Given the description of an element on the screen output the (x, y) to click on. 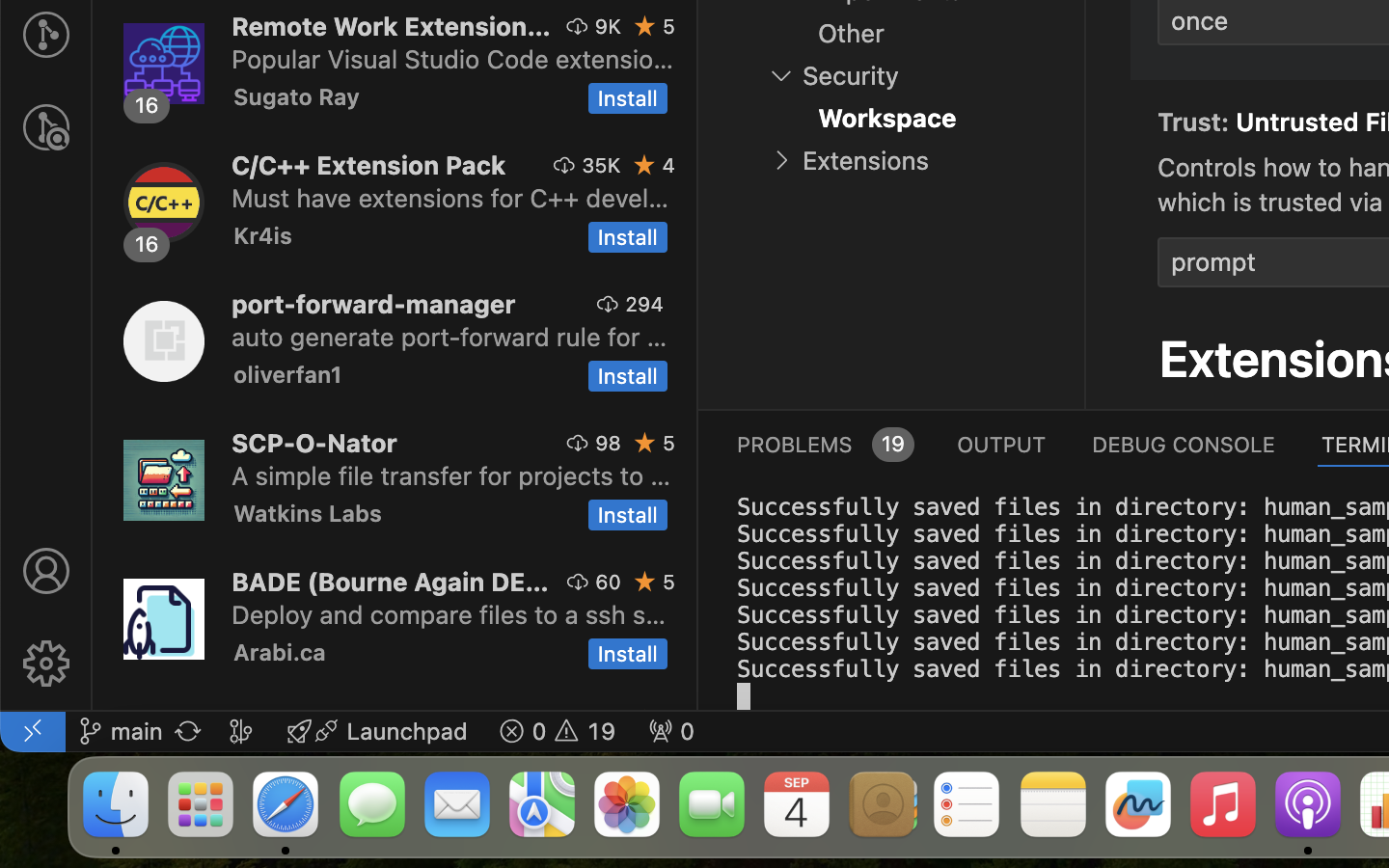
Popular Visual Studio Code extensions for Remote Work Element type: AXStaticText (453, 58)
A simple file transfer for projects to and from servers suporting scp (ssh file transfer). Element type: AXStaticText (451, 475)
 Element type: AXStaticText (608, 303)
 Element type: AXGroup (46, 570)
main  Element type: AXButton (120, 730)
